Given the description of an element on the screen output the (x, y) to click on. 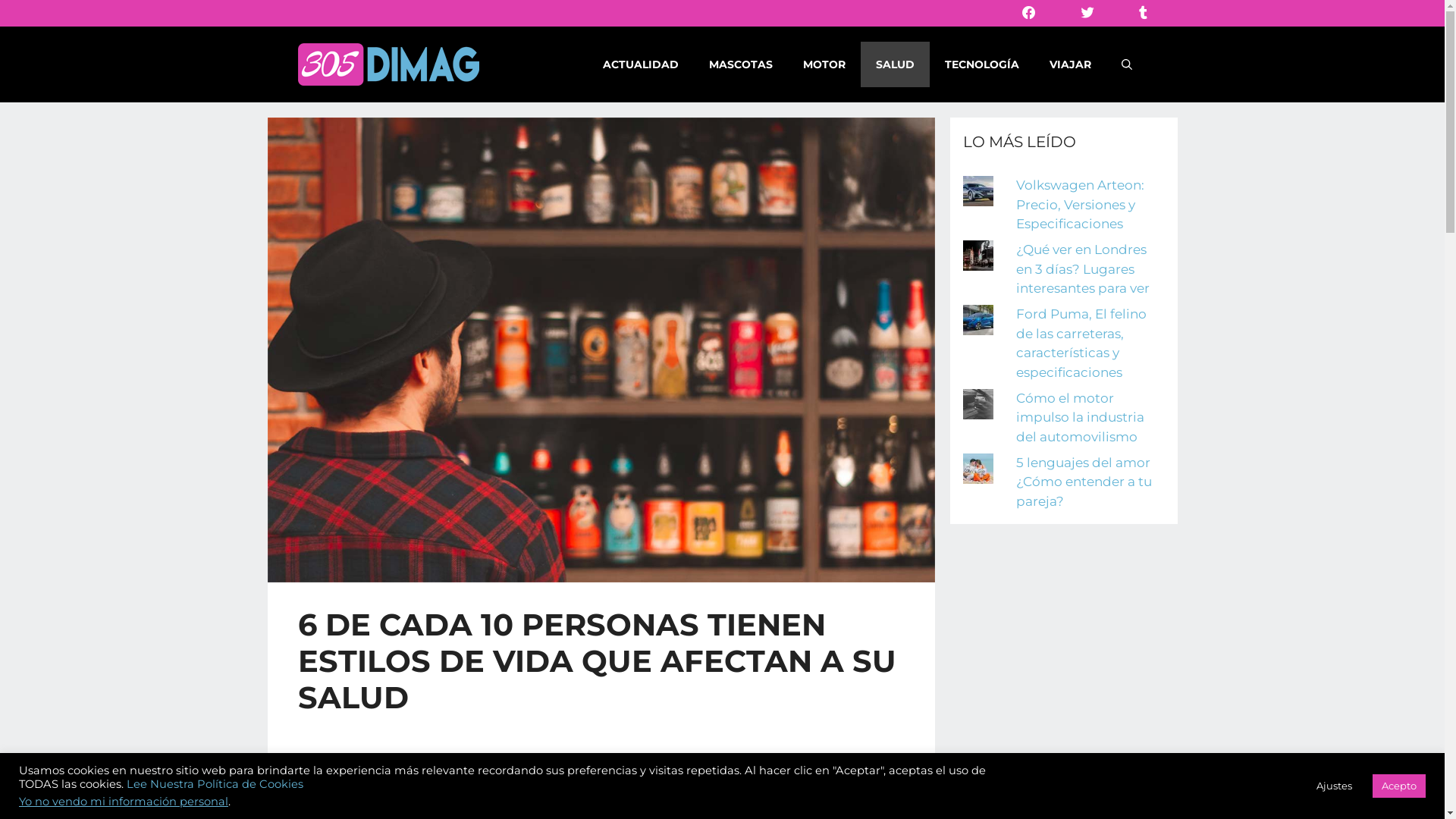
Volkswagen Arteon: Precio, Versiones y Especificaciones Element type: text (1080, 204)
Ajustes Element type: text (1334, 785)
MASCOTAS Element type: text (740, 64)
MOTOR Element type: text (823, 64)
ACTUALIDAD Element type: text (639, 64)
Acepto Element type: text (1398, 785)
SALUD Element type: text (893, 64)
VIAJAR Element type: text (1070, 64)
